Given the description of an element on the screen output the (x, y) to click on. 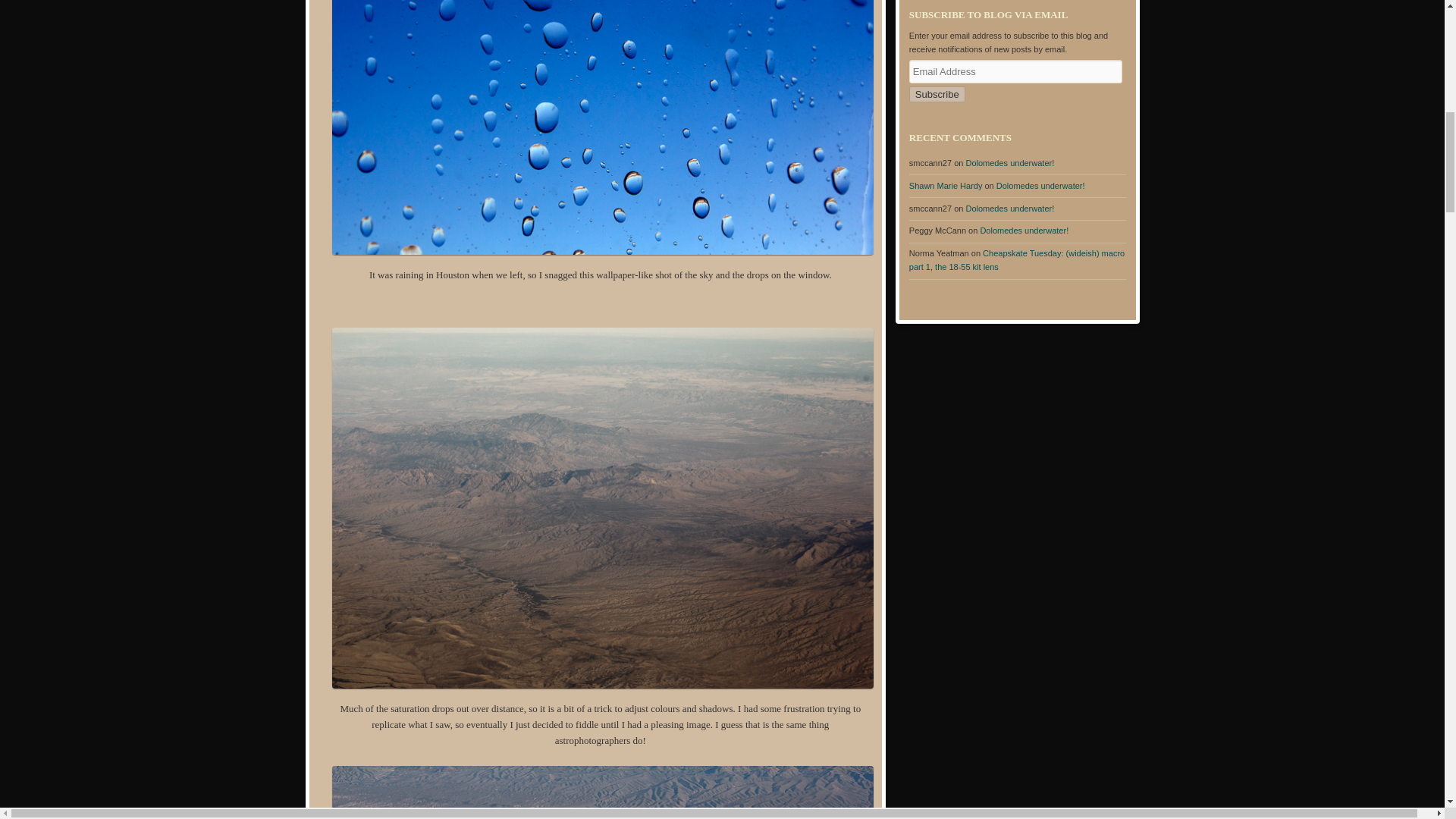
Subscribe (936, 94)
